Given the description of an element on the screen output the (x, y) to click on. 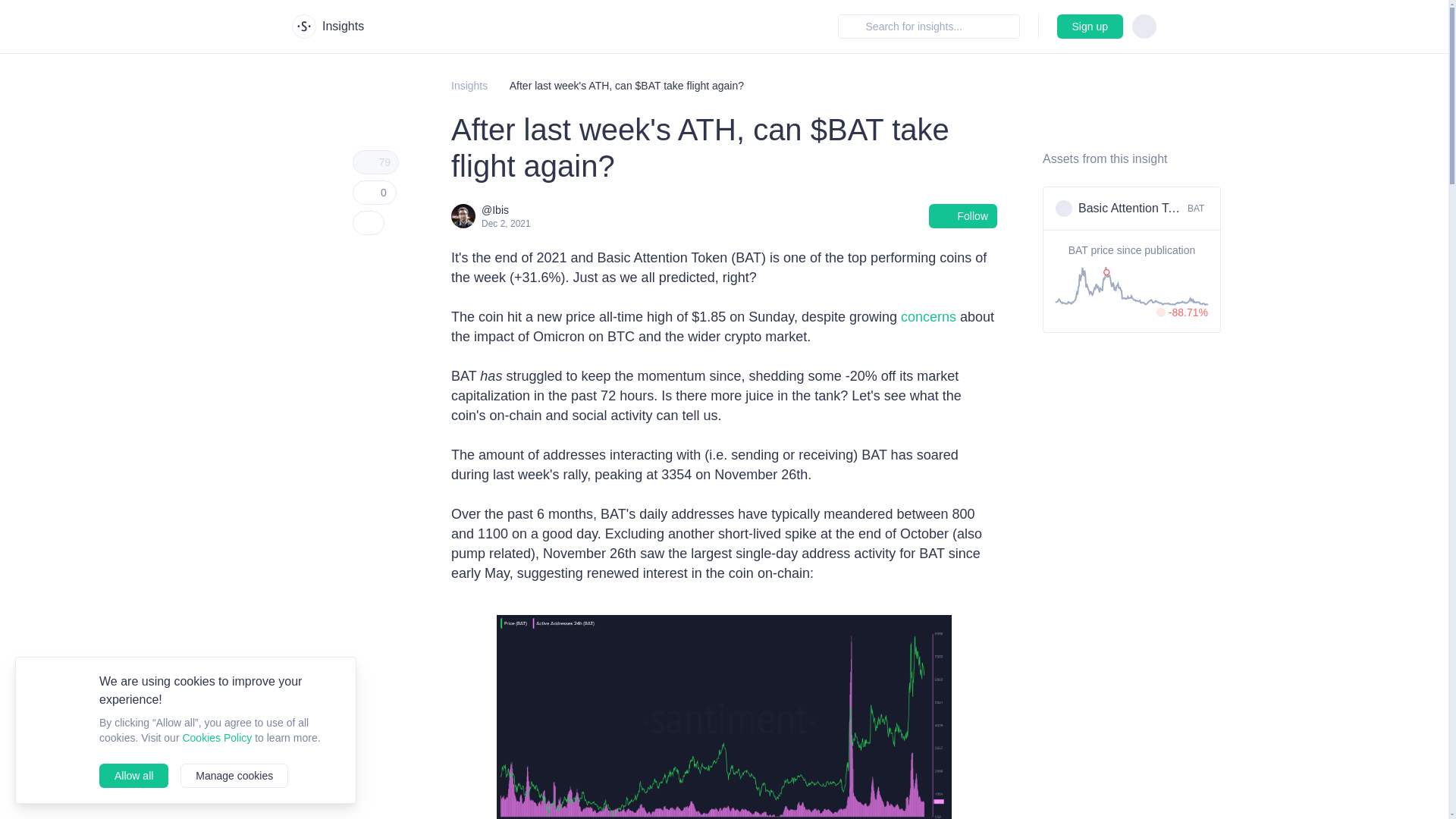
concerns (930, 316)
Sign up (1089, 26)
Allow all (133, 775)
Insights (328, 26)
Manage cookies (234, 775)
0 (374, 192)
Cookies Policy (216, 737)
Insights (1131, 208)
Follow (469, 85)
